Given the description of an element on the screen output the (x, y) to click on. 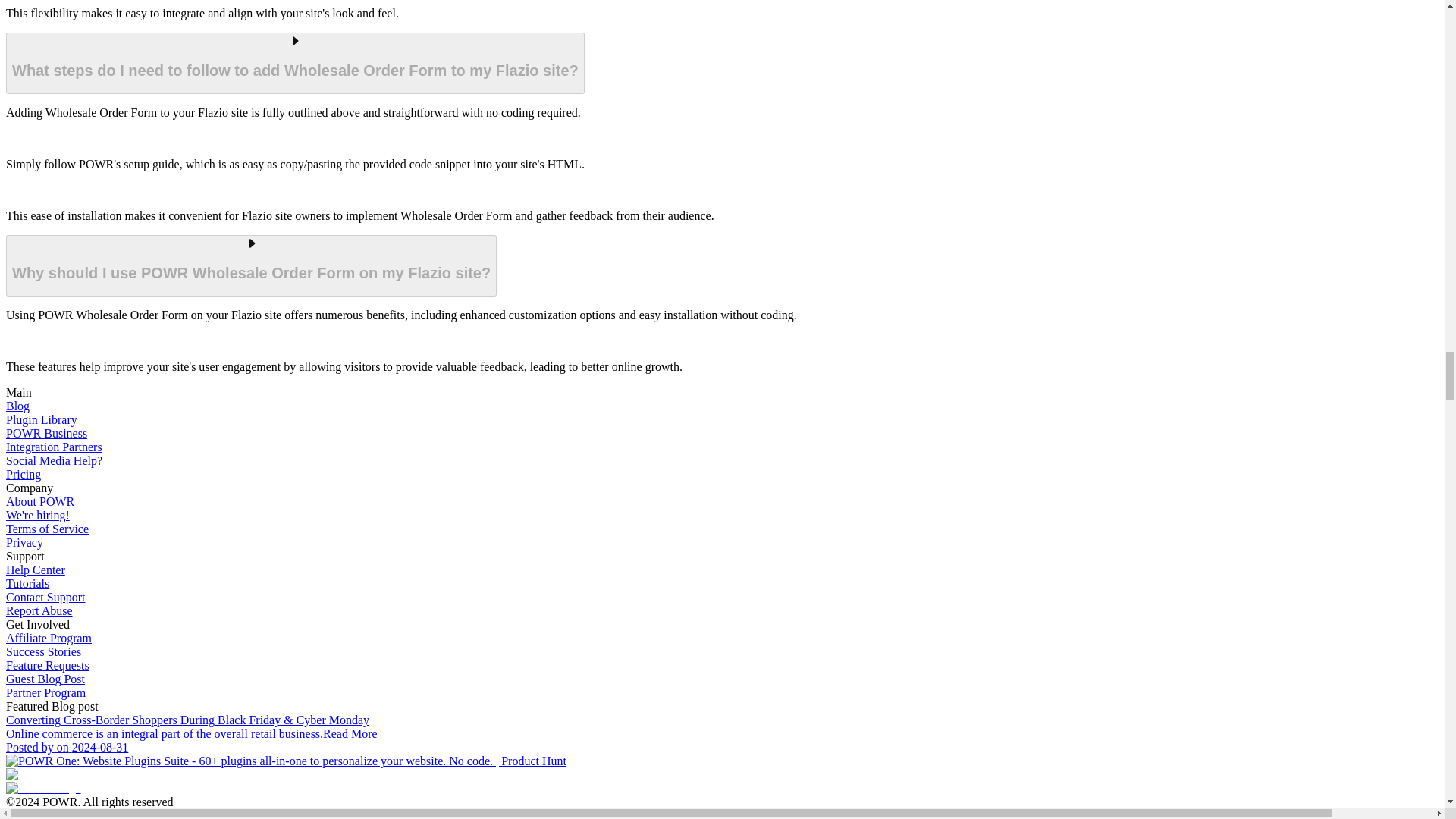
Read reviews of POWR on G2 (79, 774)
